Given the description of an element on the screen output the (x, y) to click on. 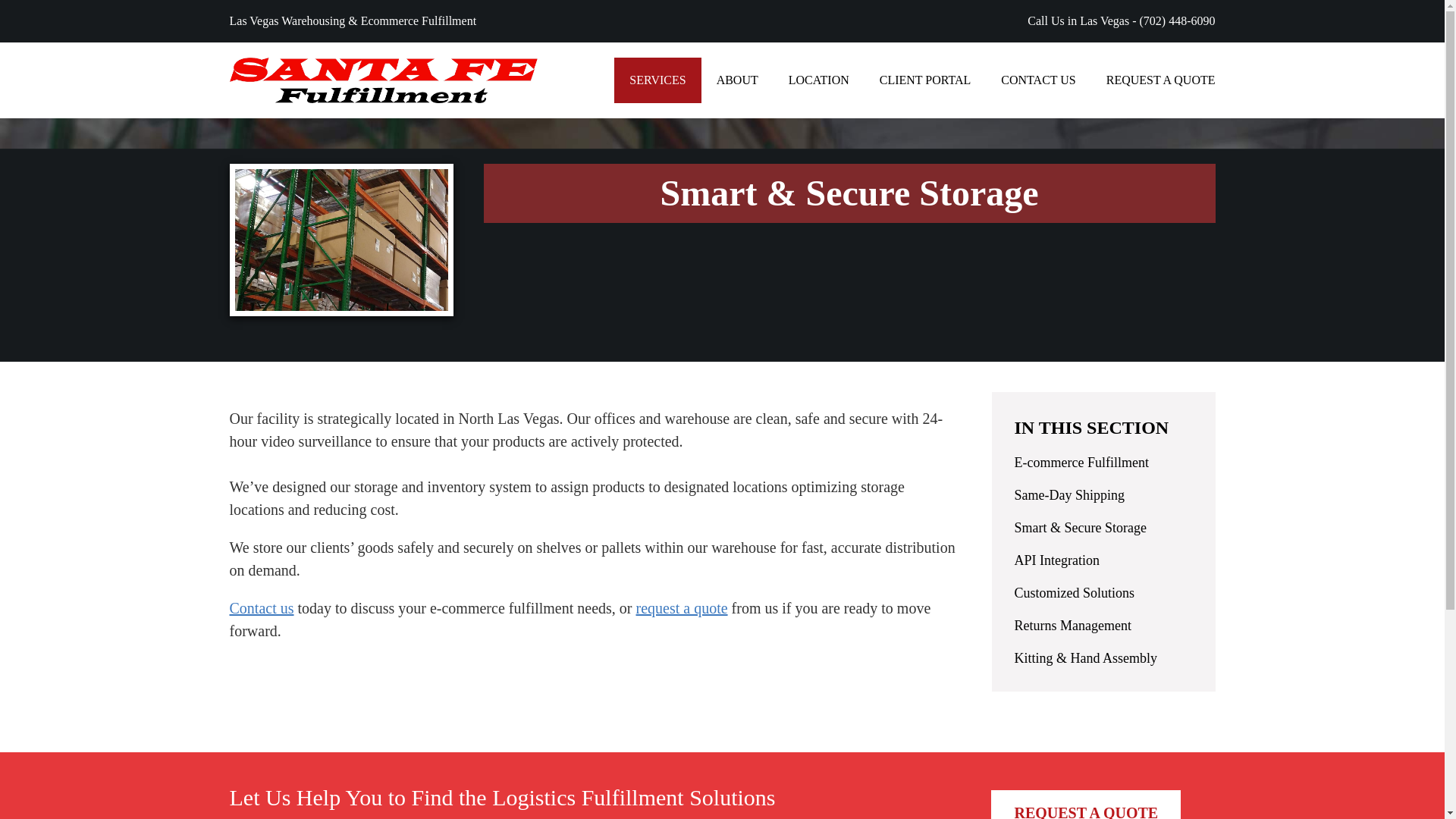
request a quote (680, 607)
Services (657, 80)
Returns Management (1072, 625)
Request a Quote (1160, 80)
LOCATION (818, 80)
Contact us (261, 607)
API Integration (1056, 560)
CLIENT PORTAL (925, 80)
E-commerce Fulfillment (1081, 462)
Same-Day Shipping (1069, 494)
REQUEST A QUOTE (1160, 80)
Contact Us (1037, 80)
About (737, 80)
REQUEST A QUOTE (1085, 804)
SERVICES (657, 80)
